Given the description of an element on the screen output the (x, y) to click on. 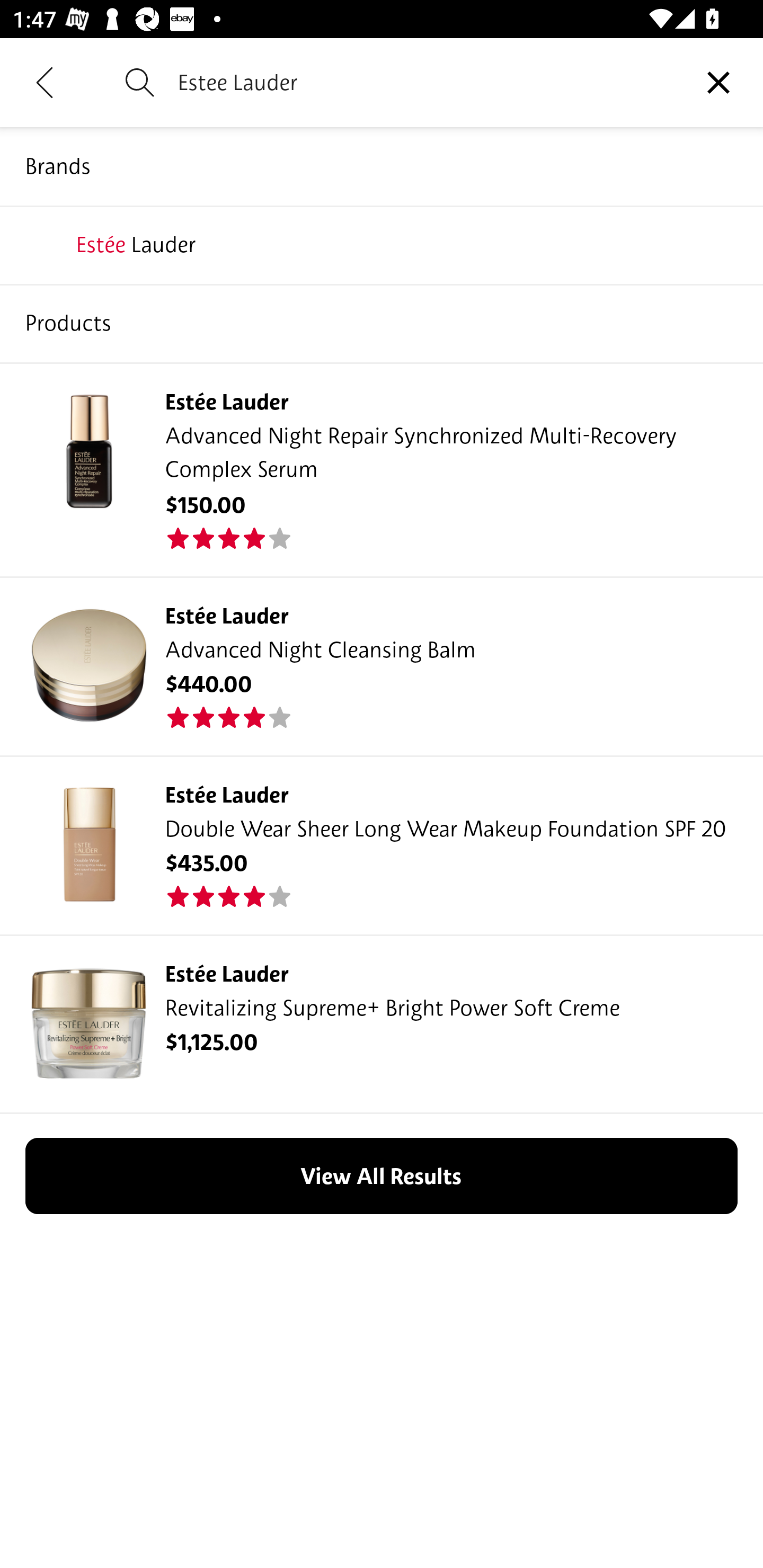
Navigate up (44, 82)
Clear query (718, 81)
Estee Lauder (425, 82)
supergoop! (381, 244)
the ordinary (381, 322)
View All Results (381, 1175)
